Given the description of an element on the screen output the (x, y) to click on. 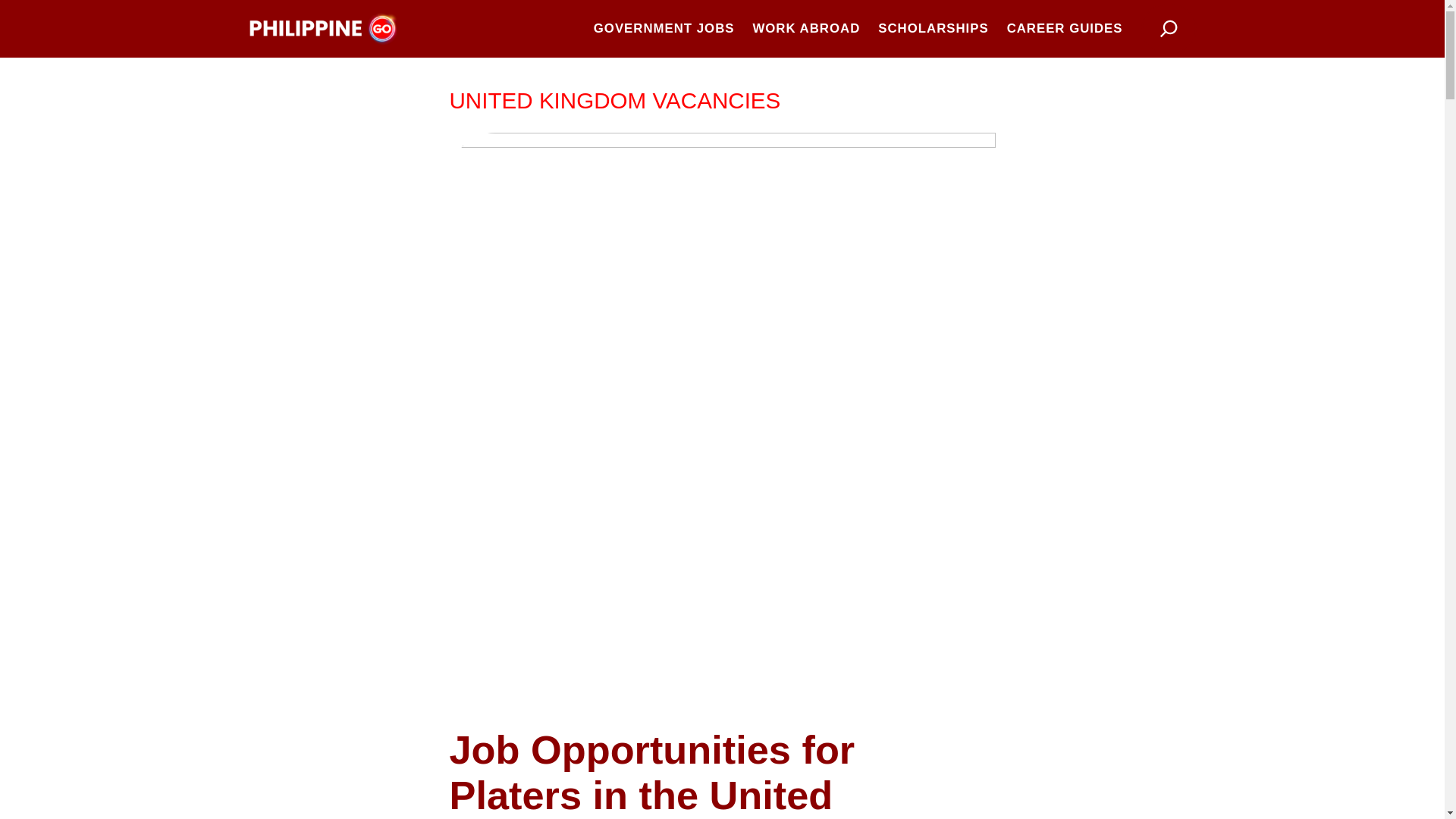
UNITED KINGDOM VACANCIES (614, 100)
SCHOLARSHIPS (932, 28)
GOVERNMENT JOBS (664, 28)
WORK ABROAD (806, 28)
CAREER GUIDES (1064, 28)
